Given the description of an element on the screen output the (x, y) to click on. 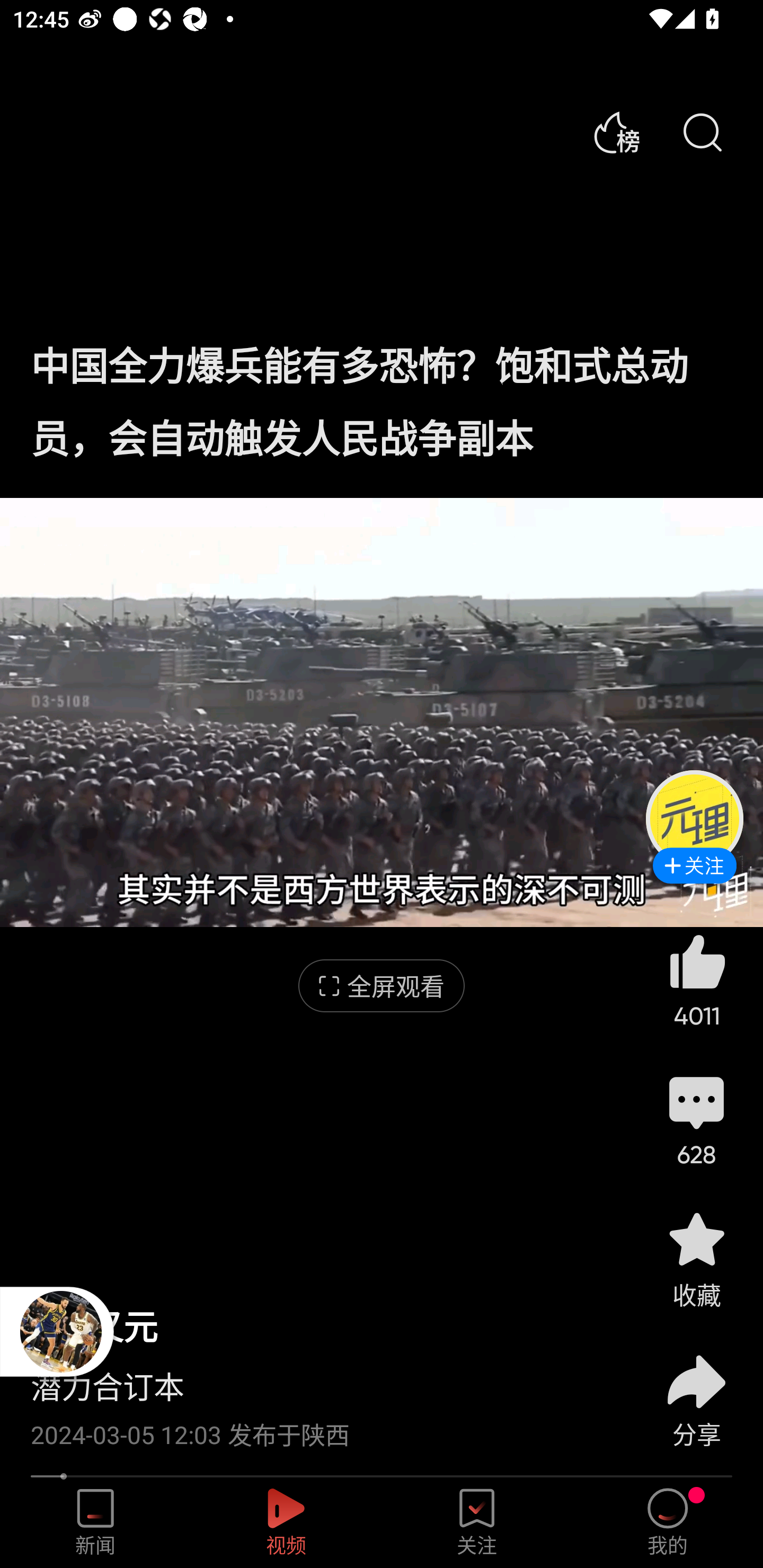
 热榜 (616, 133)
 搜索 (701, 133)
赞 4011 (696, 979)
全屏观看 (381, 985)
评论  628 (696, 1118)
收藏 (696, 1258)
播放器 (60, 1330)
分享  分享 (696, 1389)
潜力合订本 2024-03-05 12:03 发布于陕西 (321, 1399)
